Given the description of an element on the screen output the (x, y) to click on. 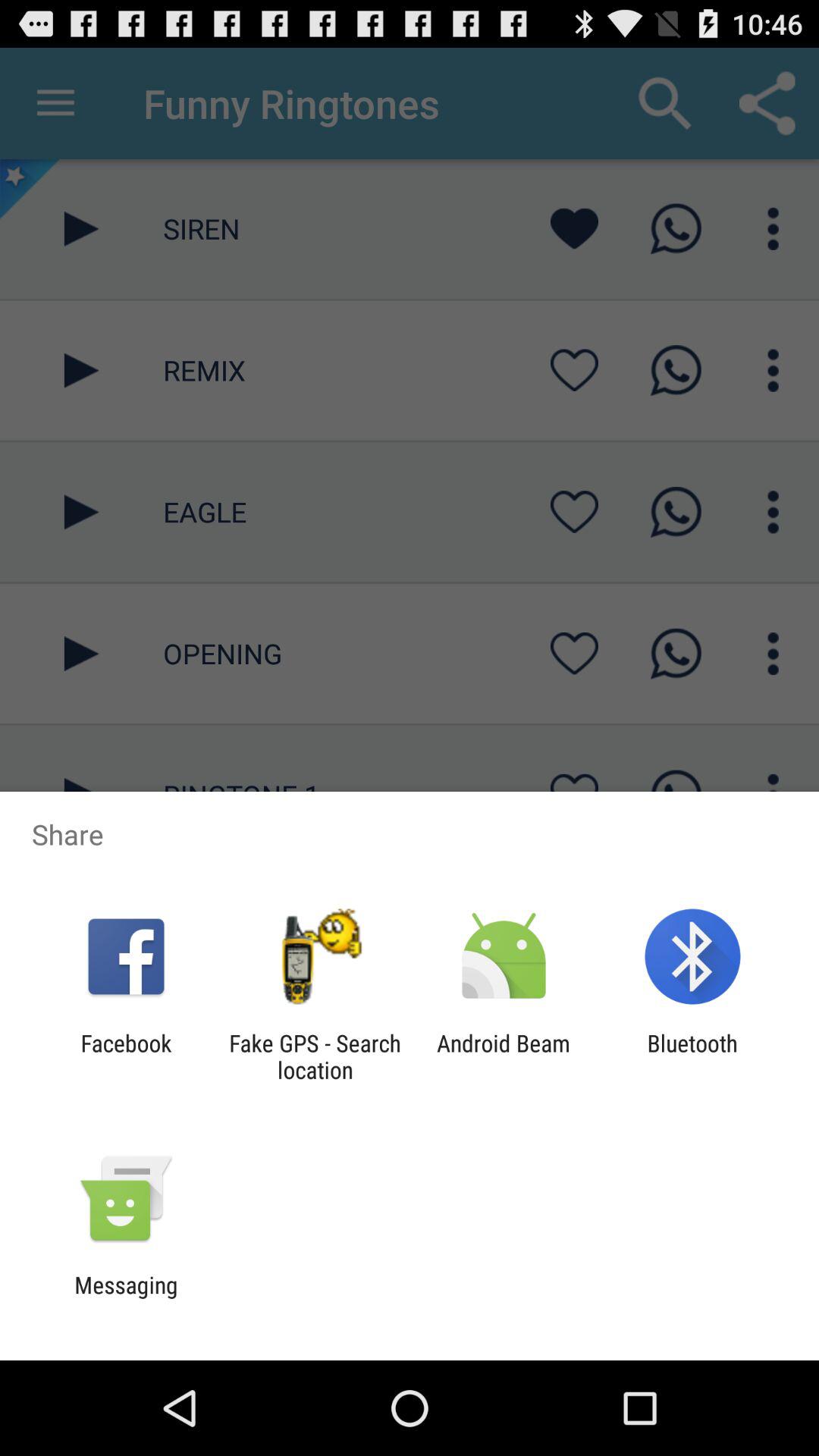
turn off the fake gps search item (314, 1056)
